Given the description of an element on the screen output the (x, y) to click on. 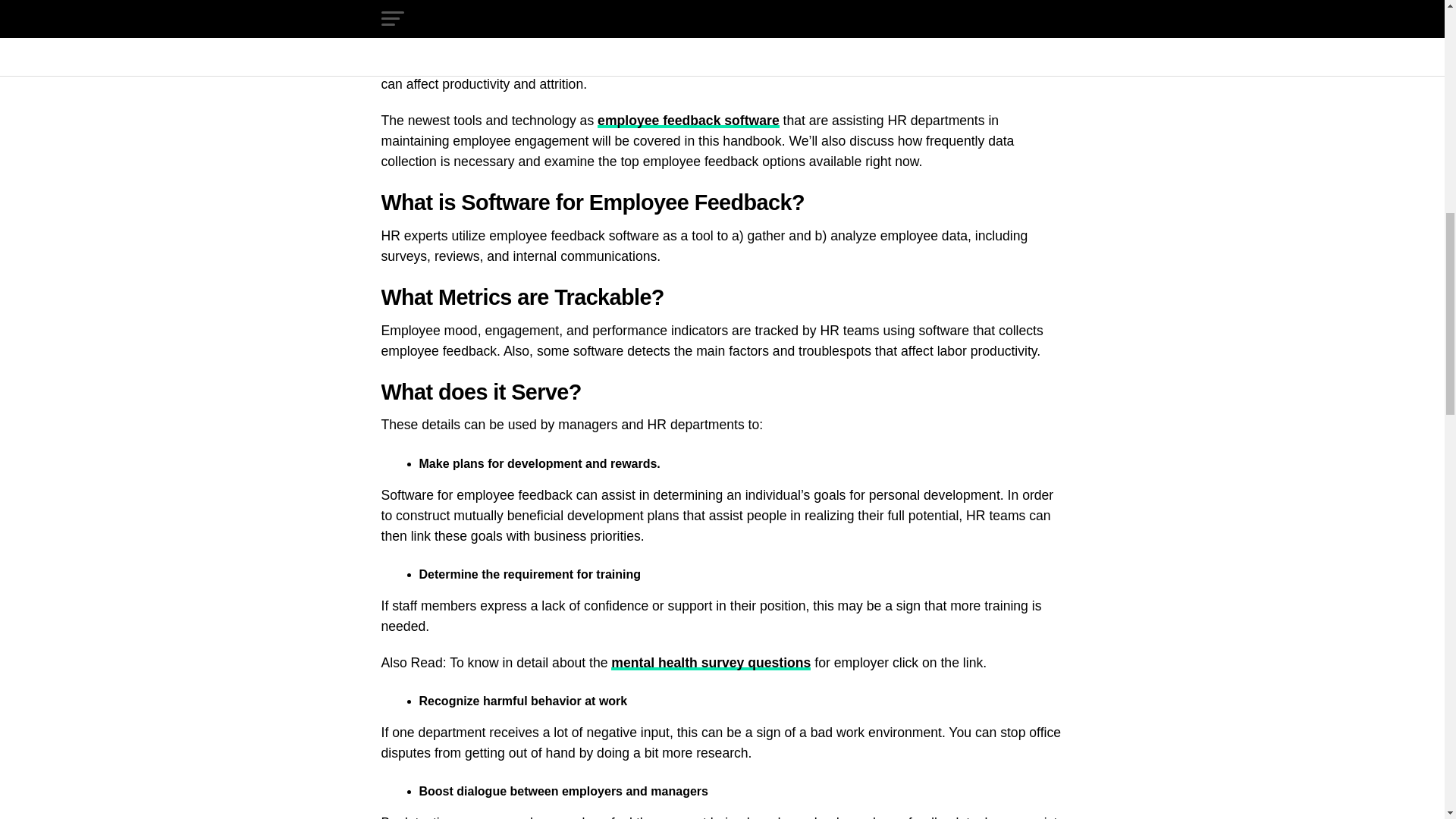
mental health survey questions (710, 662)
employee feedback software (687, 120)
